Given the description of an element on the screen output the (x, y) to click on. 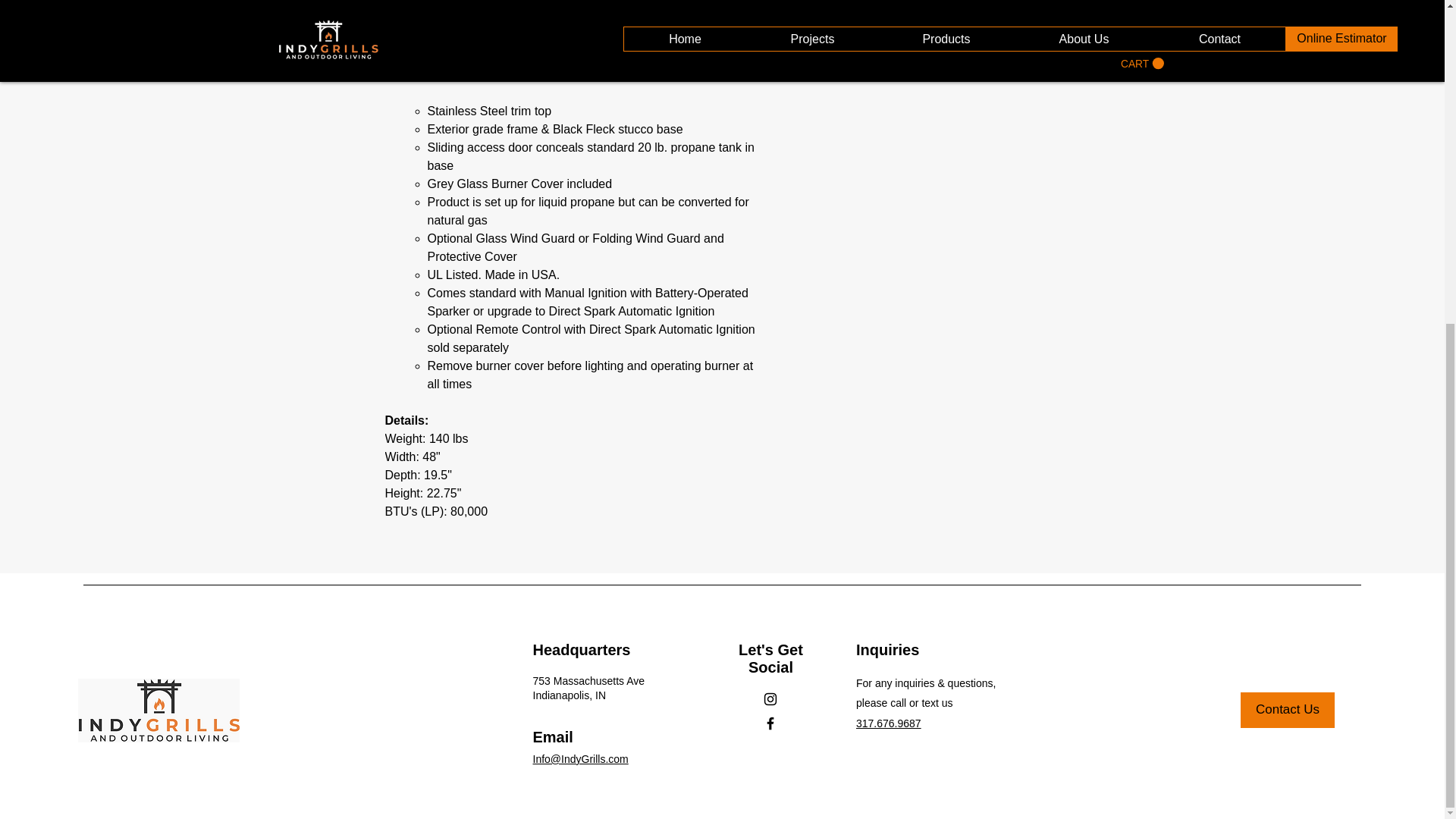
317.676.9687 (888, 723)
Contact Us (1287, 710)
